Given the description of an element on the screen output the (x, y) to click on. 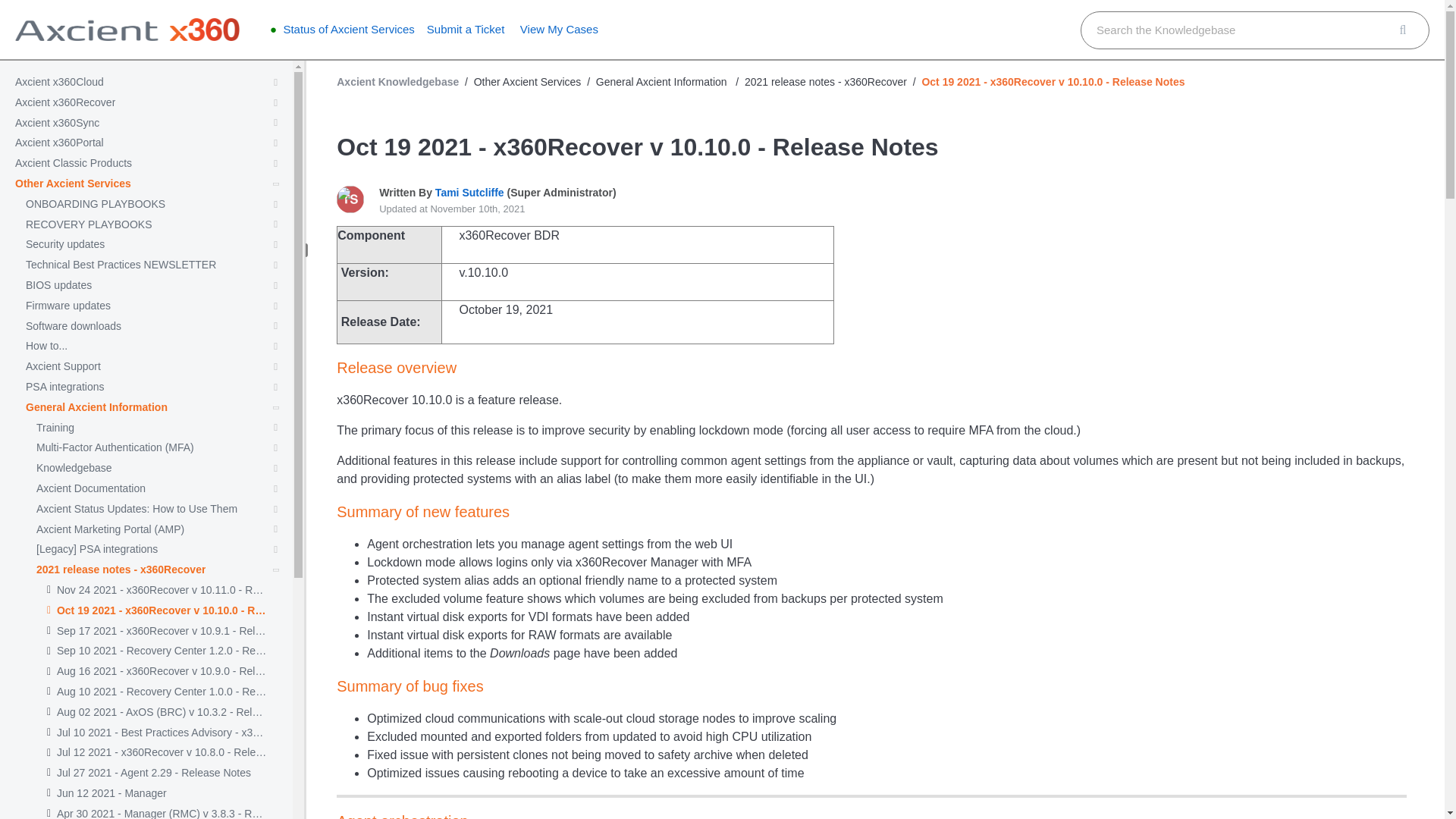
PSA integrations (65, 386)
Axcient Support (63, 366)
Other Axcient Services (72, 183)
Training (55, 427)
Software downloads (73, 326)
Firmware updates (68, 305)
General Axcient Information (96, 407)
Submit a Ticket (465, 29)
BIOS updates (58, 285)
Axcient Classic Products (73, 163)
Axcient x360Cloud (58, 82)
ONBOARDING PLAYBOOKS (95, 204)
View My Cases (558, 29)
Axcient x360Sync (56, 123)
How to... (46, 345)
